Given the description of an element on the screen output the (x, y) to click on. 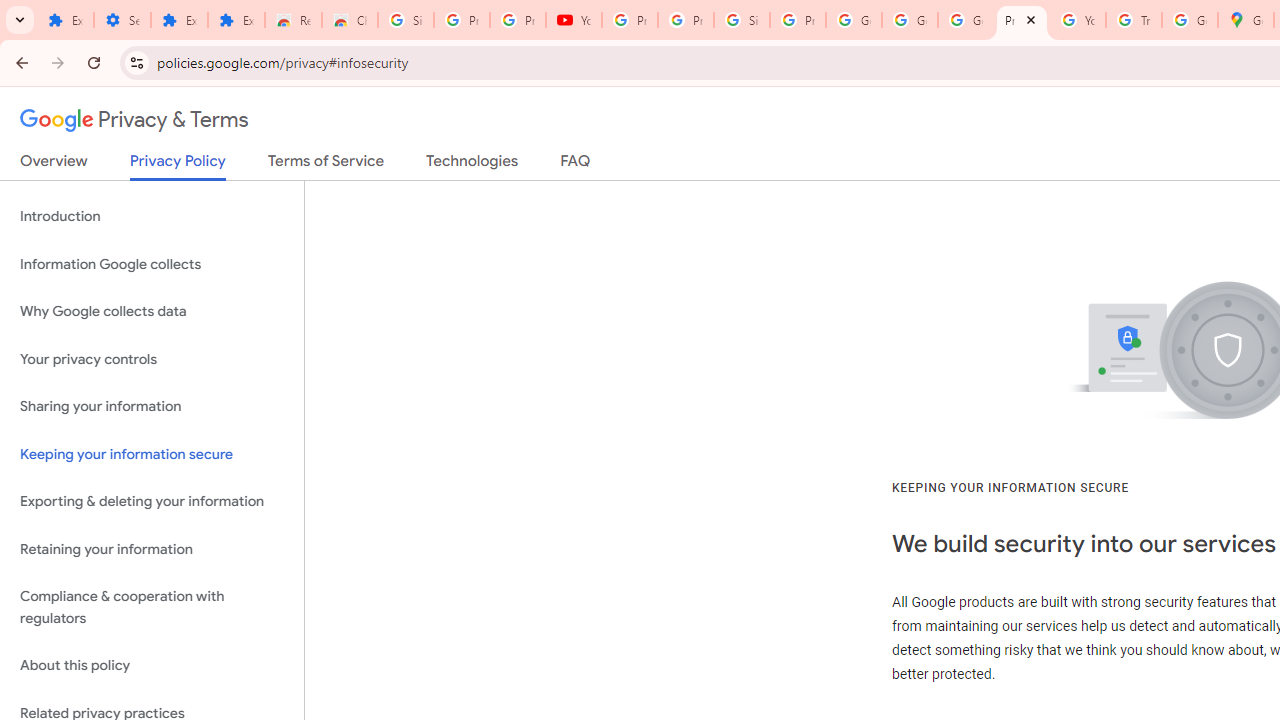
Google Account (909, 20)
Keeping your information secure (152, 453)
Extensions (179, 20)
Introduction (152, 216)
Exporting & deleting your information (152, 502)
YouTube (573, 20)
FAQ (575, 165)
Settings (122, 20)
Sharing your information (152, 407)
Retaining your information (152, 548)
